Given the description of an element on the screen output the (x, y) to click on. 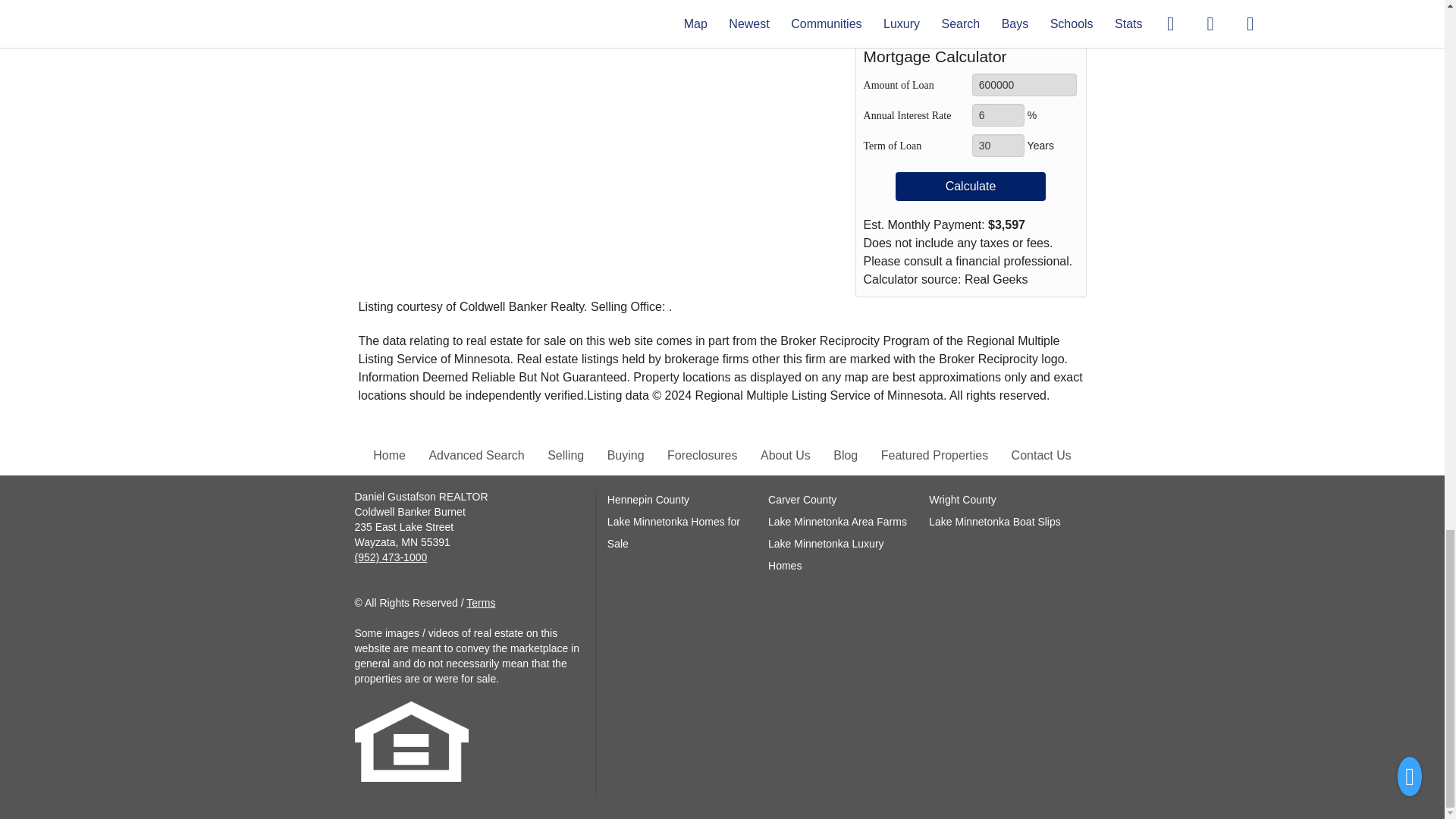
6 (998, 115)
30 (998, 145)
600000 (1024, 84)
